Given the description of an element on the screen output the (x, y) to click on. 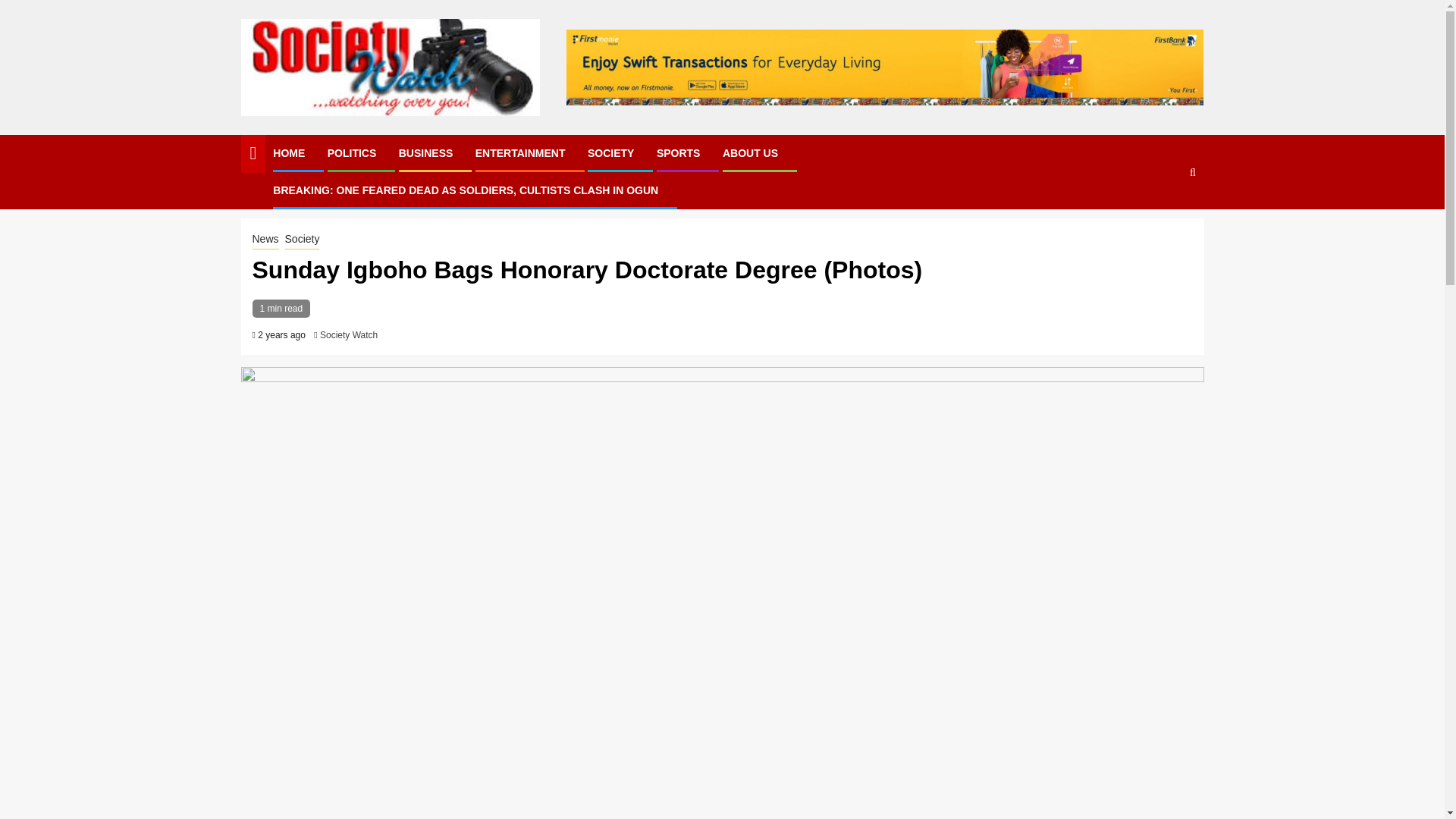
Home (254, 194)
POLITICS (352, 152)
Society (302, 239)
News (291, 194)
News (264, 239)
SOCIETY (610, 152)
ENTERTAINMENT (521, 152)
BUSINESS (425, 152)
SPORTS (678, 152)
